Given the description of an element on the screen output the (x, y) to click on. 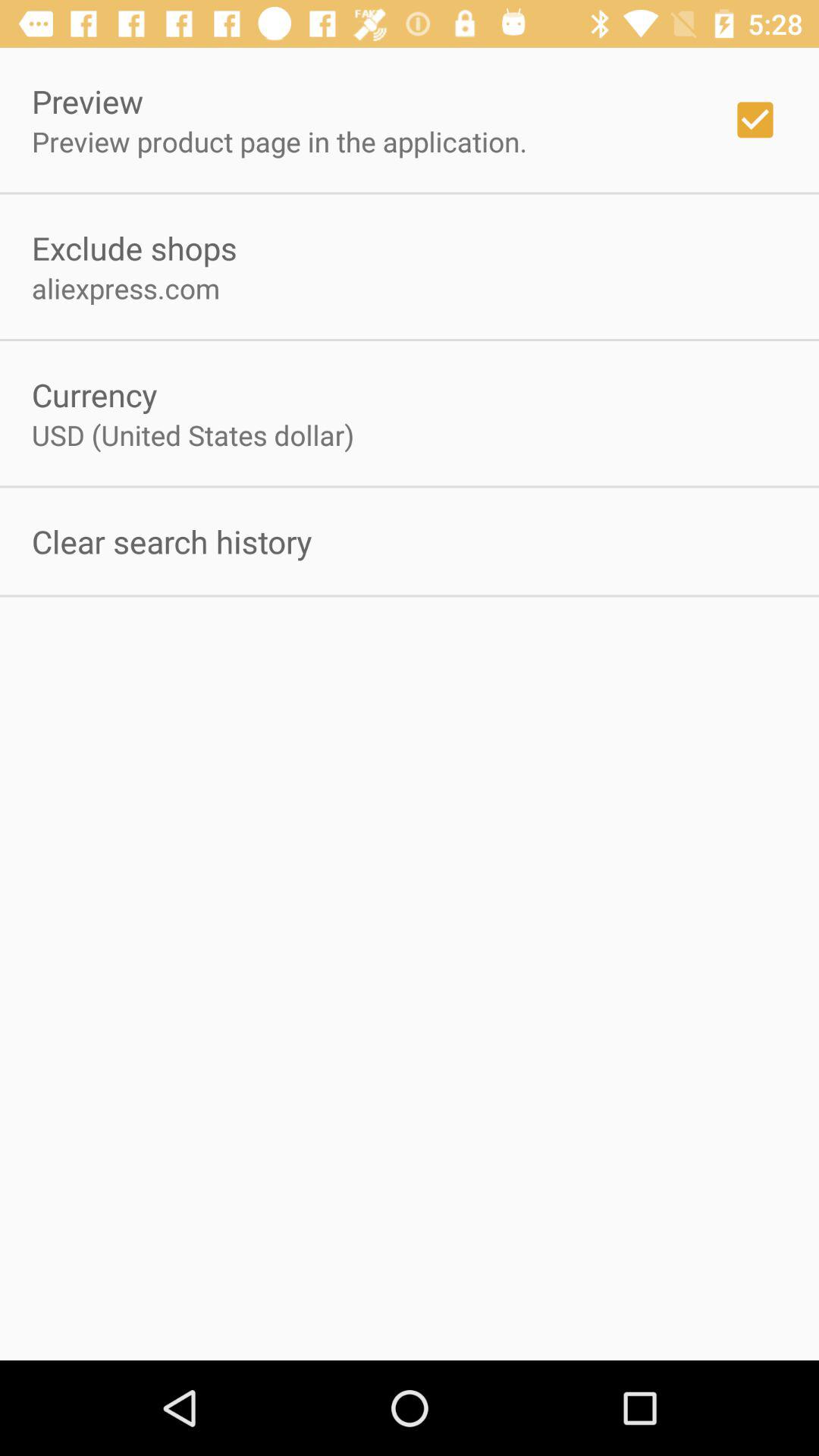
open the item next to preview product page icon (755, 119)
